Given the description of an element on the screen output the (x, y) to click on. 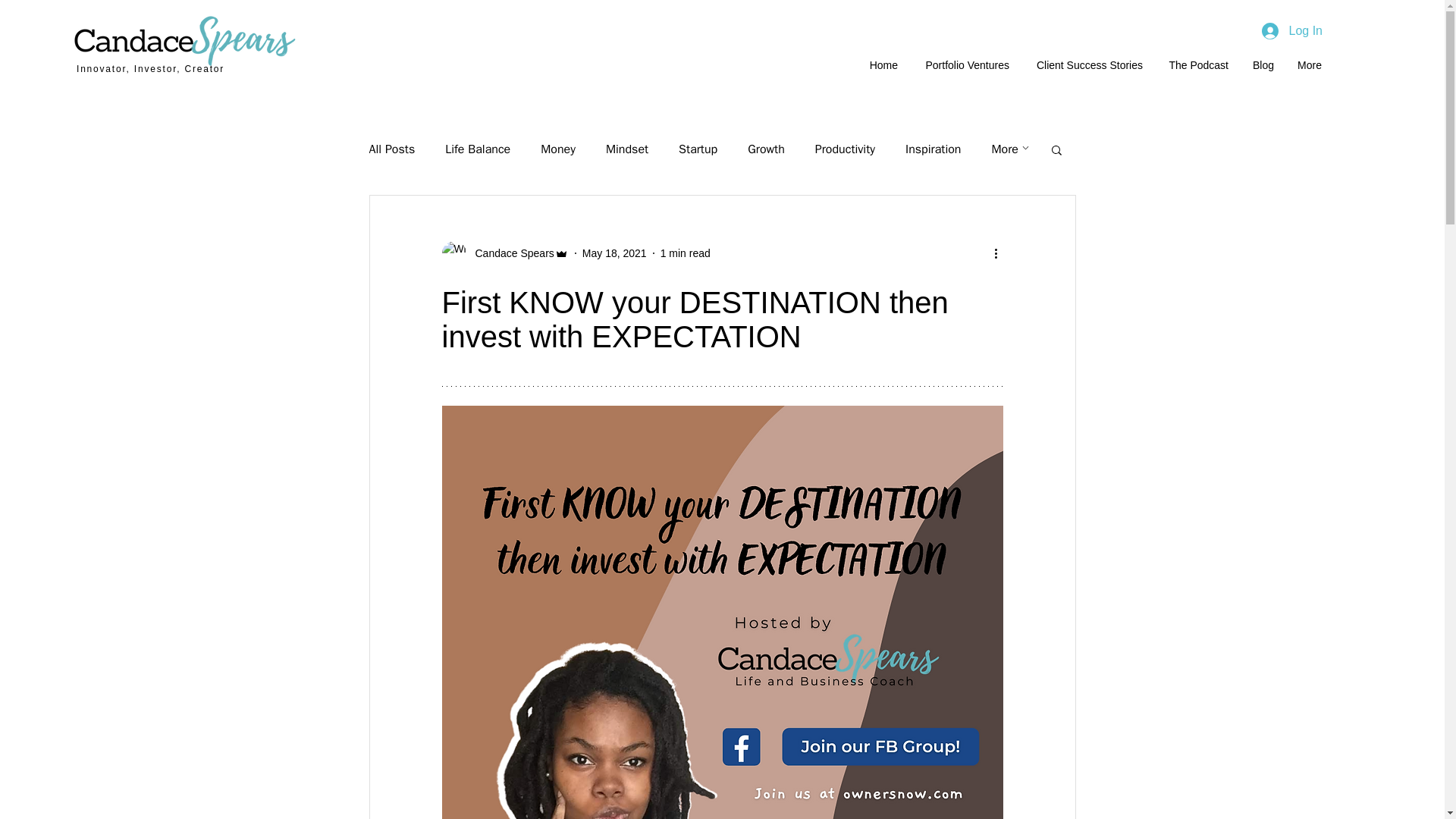
Productivity (845, 148)
Blog (1262, 64)
Mindset (626, 148)
Portfolio Ventures (964, 64)
Growth (766, 148)
The Podcast (1197, 64)
Inspiration (932, 148)
Startup (697, 148)
Log In (1291, 31)
May 18, 2021 (614, 253)
Candace Spears (504, 252)
Money (557, 148)
1 min read (685, 253)
Life Balance (478, 148)
Client Success Stories (1087, 64)
